Given the description of an element on the screen output the (x, y) to click on. 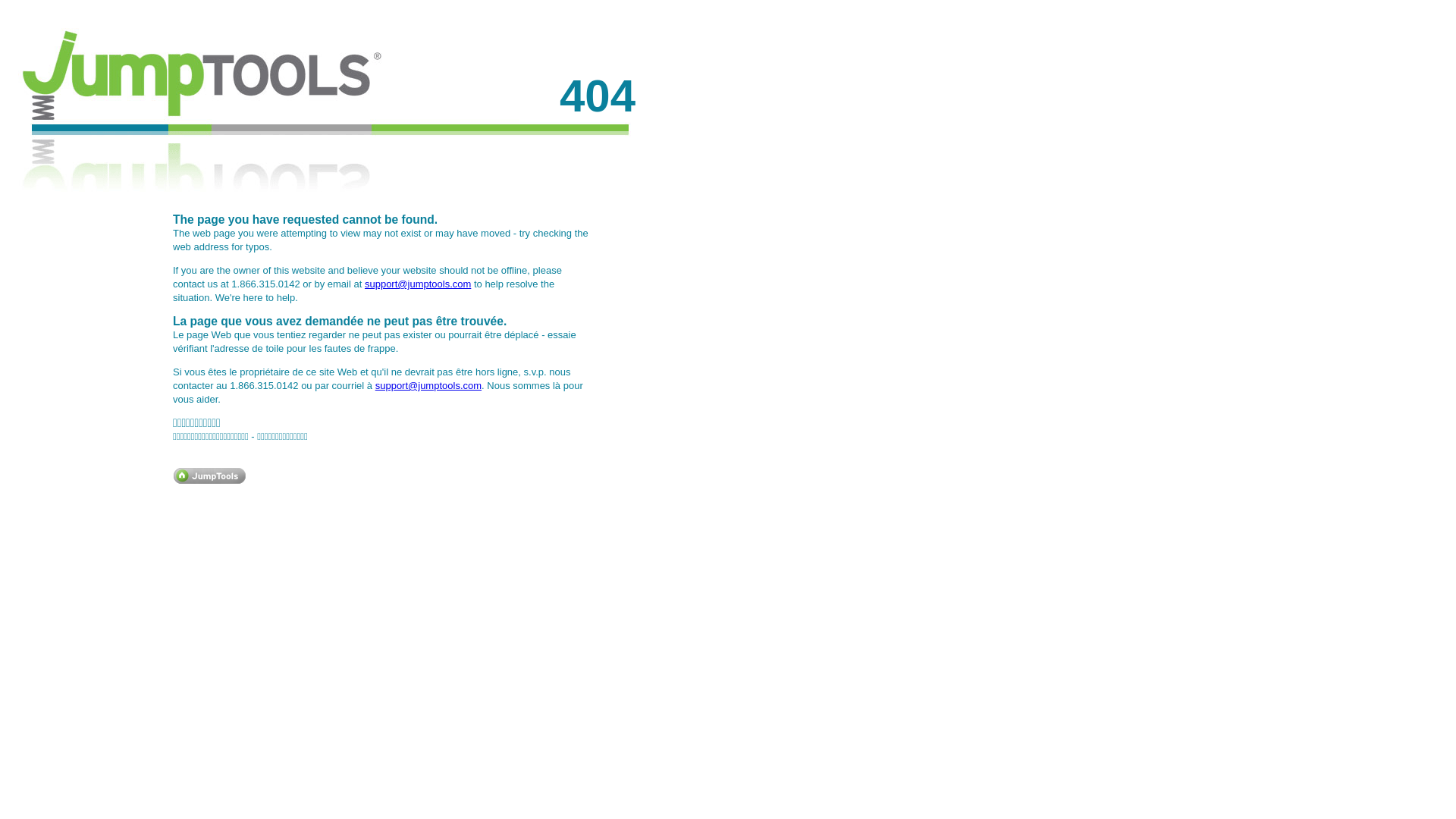
support@jumptools.com Element type: text (428, 385)
support@jumptools.com Element type: text (417, 283)
